Given the description of an element on the screen output the (x, y) to click on. 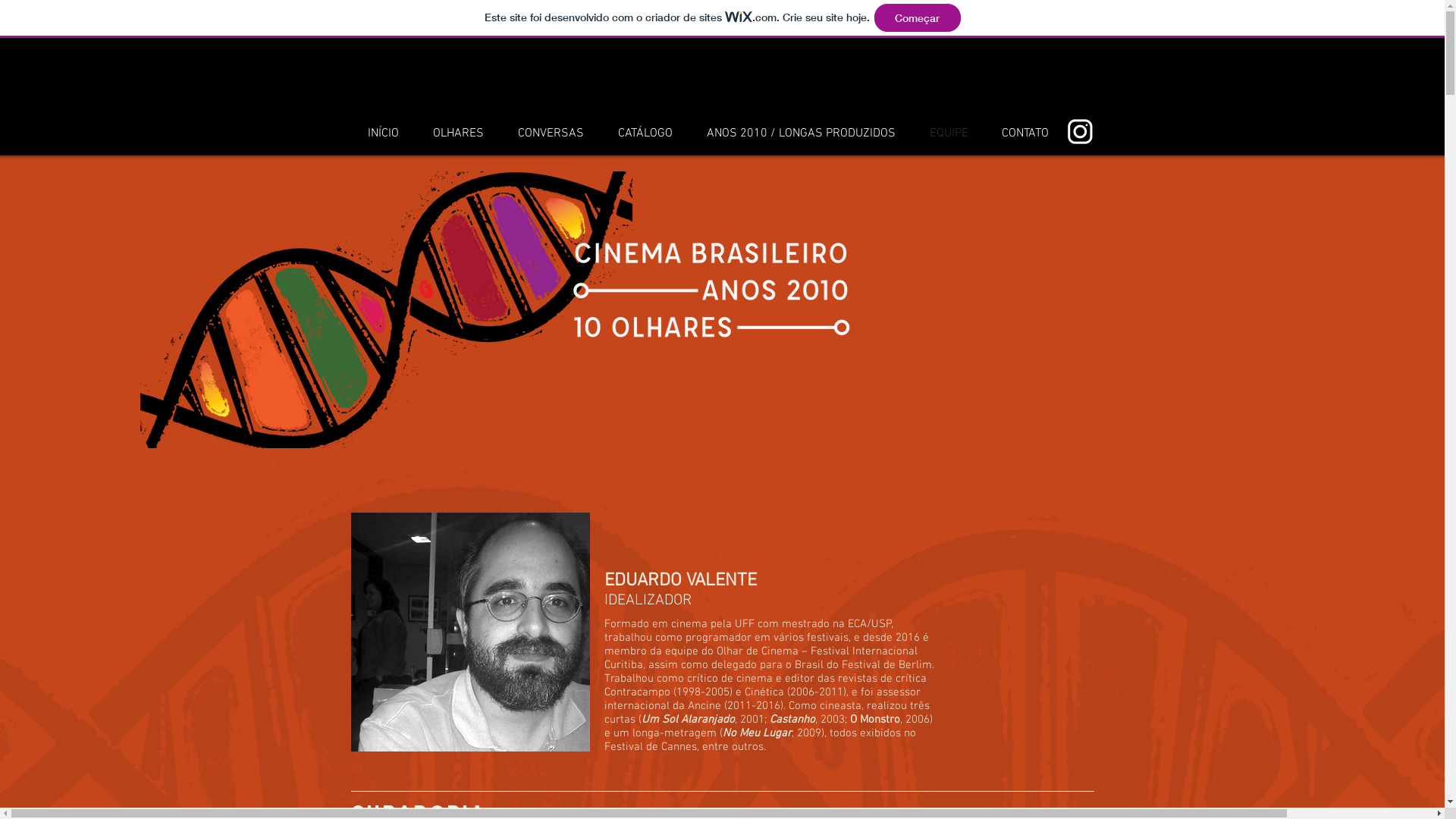
ANOS 2010 / LONGAS PRODUZIDOS Element type: text (801, 133)
OLHARES Element type: text (457, 133)
CONVERSAS Element type: text (550, 133)
EQUIPE Element type: text (949, 133)
CONTATO Element type: text (1024, 133)
